Given the description of an element on the screen output the (x, y) to click on. 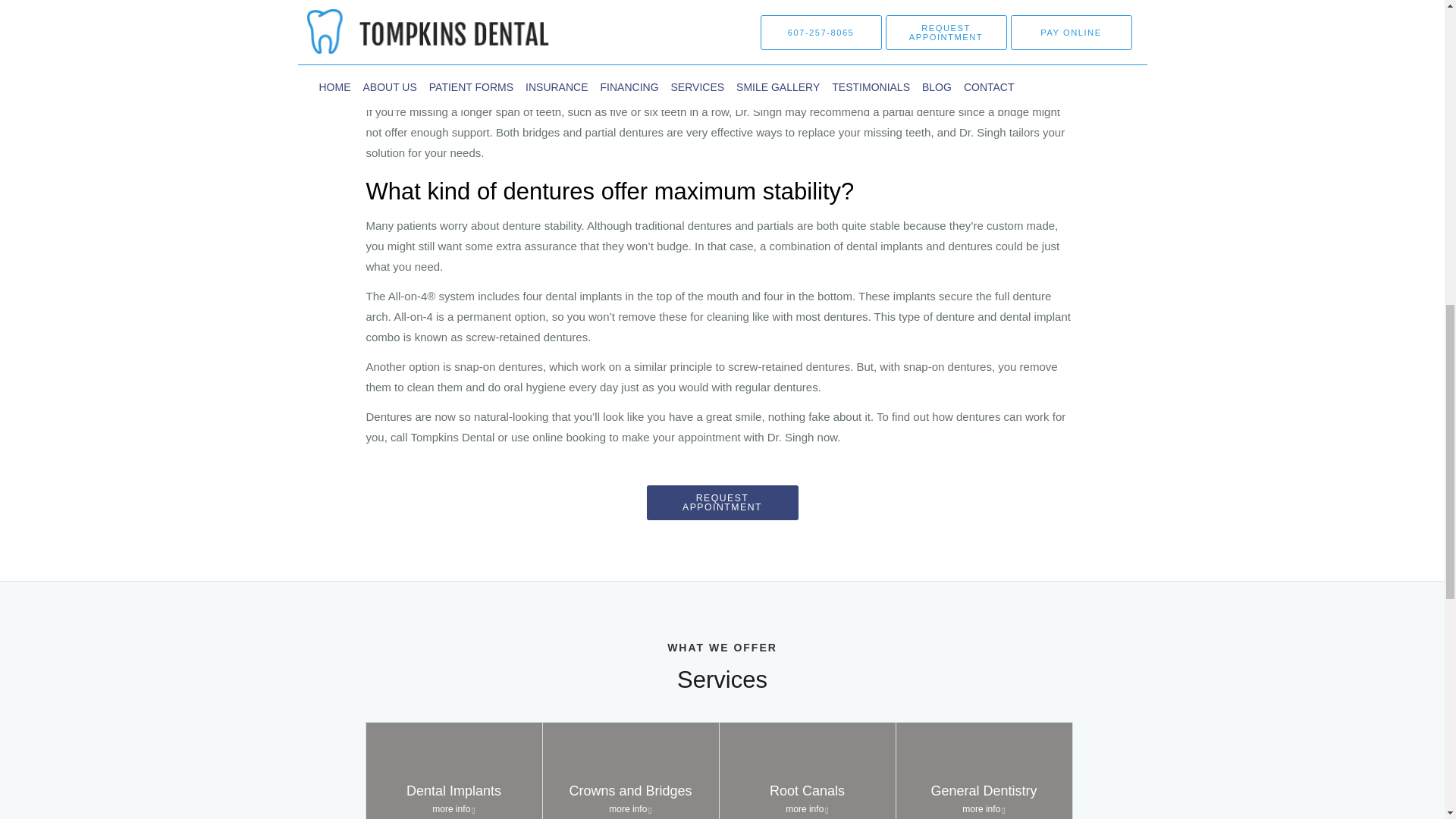
REQUEST APPOINTMENT (983, 770)
